Given the description of an element on the screen output the (x, y) to click on. 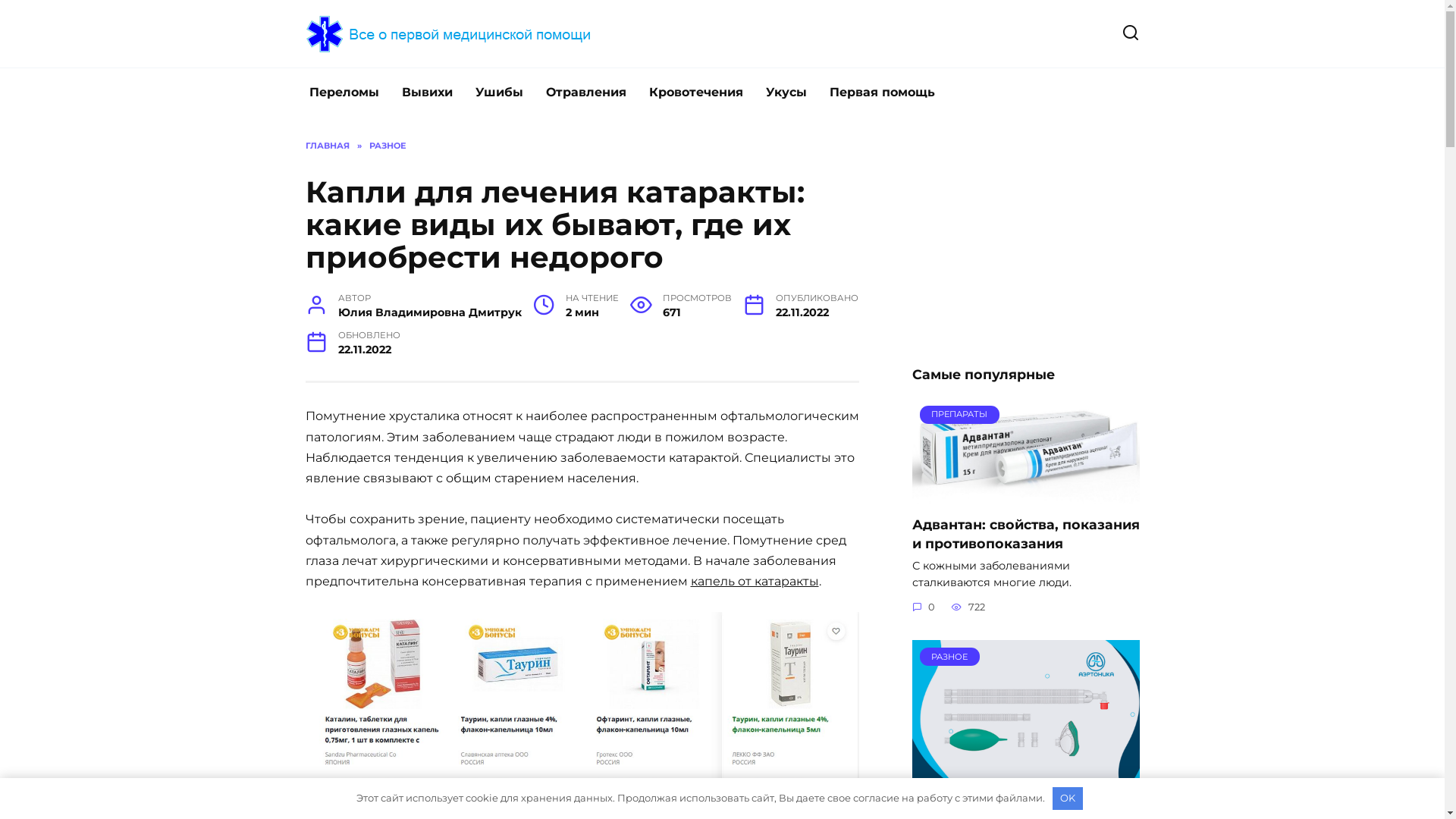
OK Element type: text (1067, 798)
Advertisement Element type: hover (1025, 234)
